Given the description of an element on the screen output the (x, y) to click on. 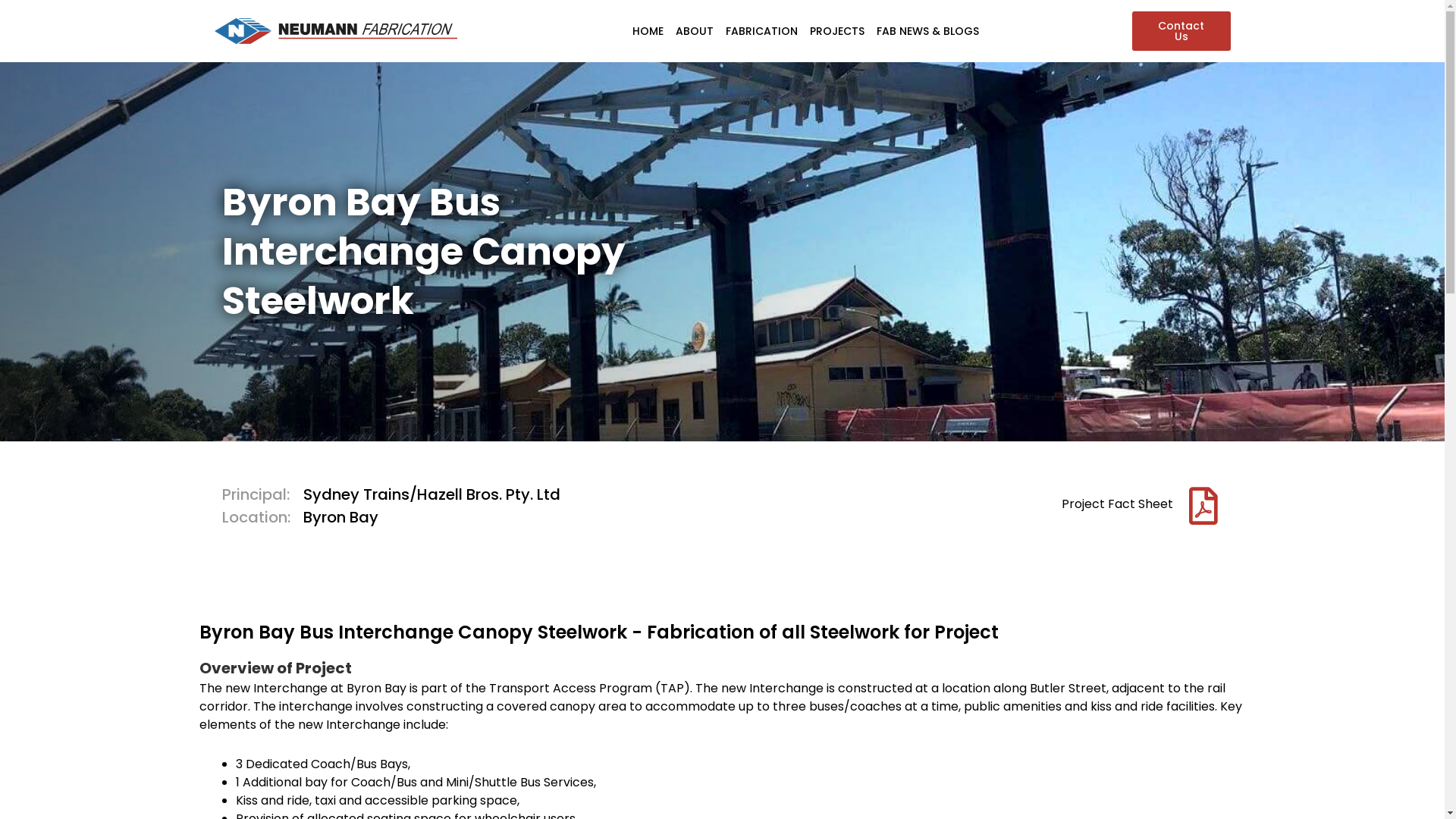
HOME Element type: text (647, 30)
Contact Us Element type: text (1180, 30)
Project Fact Sheet Element type: text (1117, 503)
FAB NEWS & BLOGS Element type: text (927, 30)
FABRICATION Element type: text (761, 30)
PROJECTS Element type: text (836, 30)
ABOUT Element type: text (694, 30)
